Given the description of an element on the screen output the (x, y) to click on. 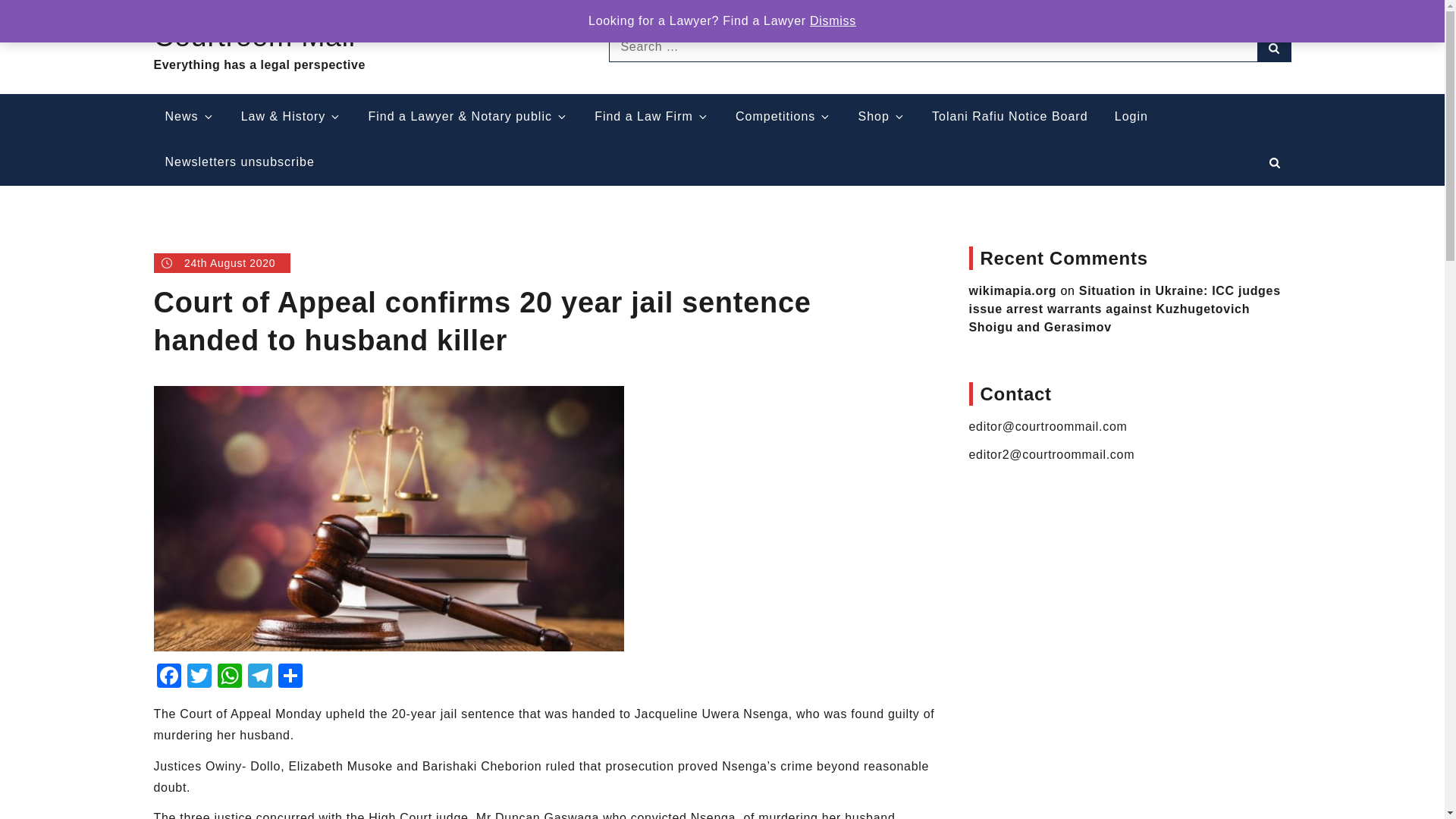
News (188, 117)
WhatsApp (229, 677)
Search (1274, 46)
Telegram (259, 677)
Facebook (167, 677)
Facebook (167, 677)
Twitter (198, 677)
Courtroom Mail (253, 36)
Competitions (783, 117)
24th August 2020 (220, 262)
Newsletters unsubscribe (238, 162)
Shop (882, 117)
Tolani Rafiu Notice Board (1009, 117)
Telegram (259, 677)
WhatsApp (229, 677)
